Given the description of an element on the screen output the (x, y) to click on. 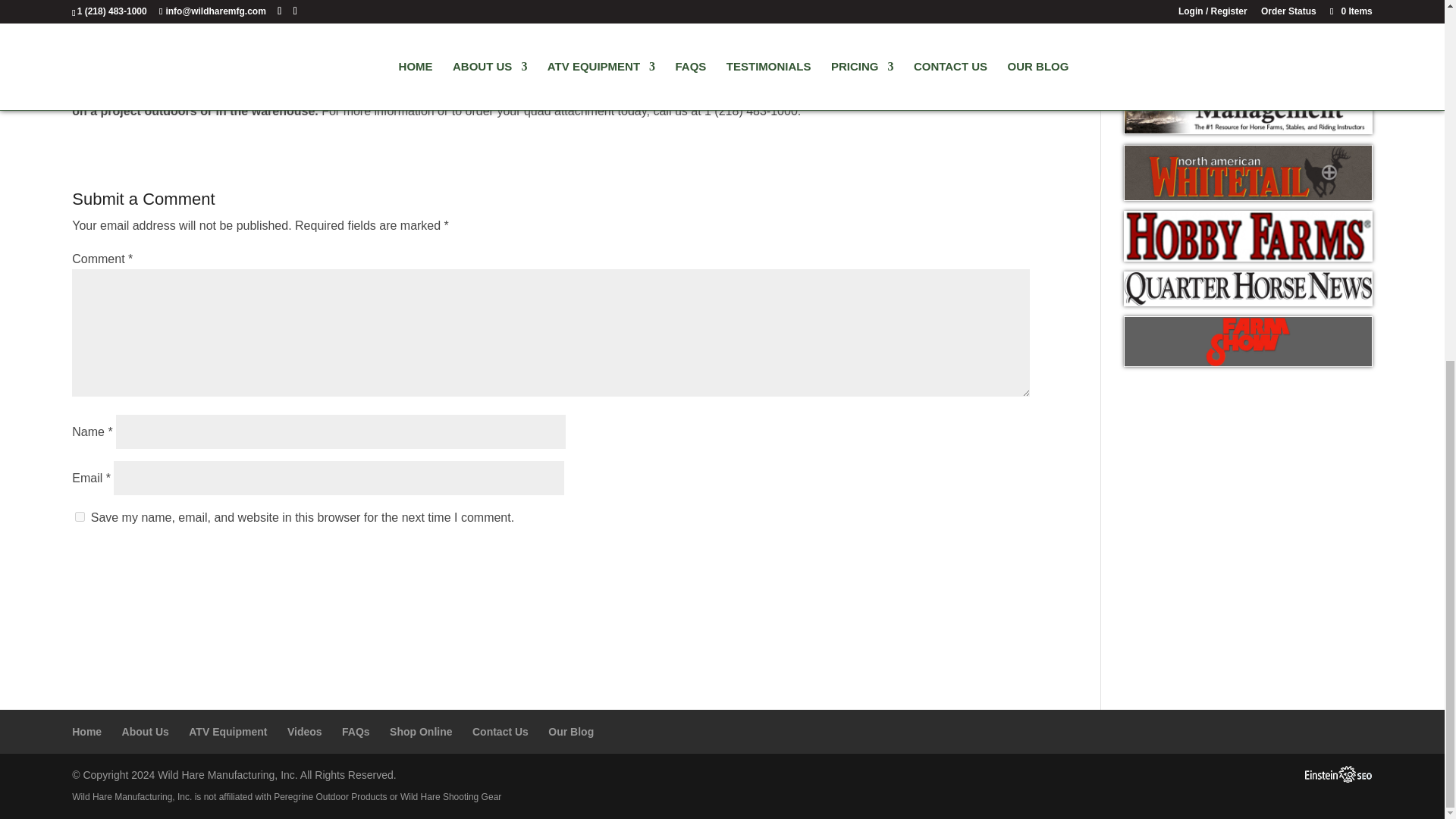
Minnesota Search Engine Optimization Services (1338, 779)
yes (79, 516)
Submit Comment (954, 558)
Submit Comment (954, 558)
